Given the description of an element on the screen output the (x, y) to click on. 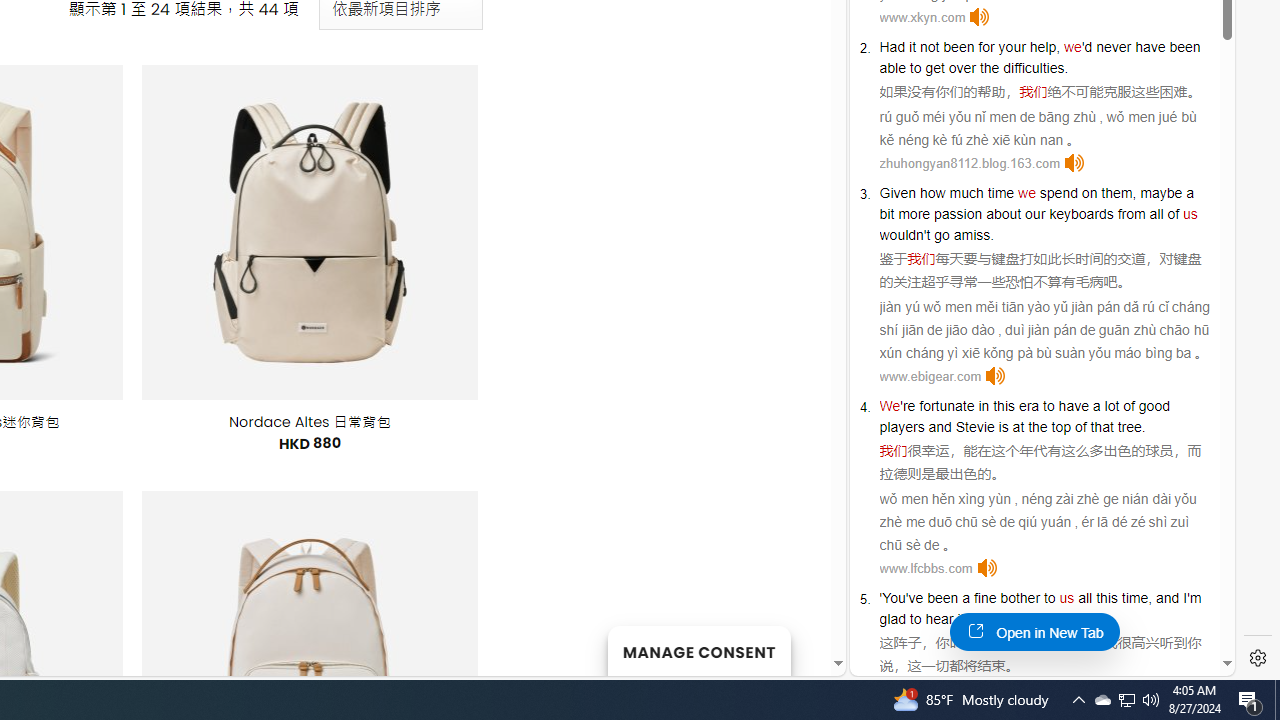
You (893, 597)
Click to listen (986, 568)
lot (1111, 405)
bother (1019, 597)
'm (1193, 597)
amiss (971, 234)
all (1085, 597)
top (1060, 426)
glad (892, 619)
